Given the description of an element on the screen output the (x, y) to click on. 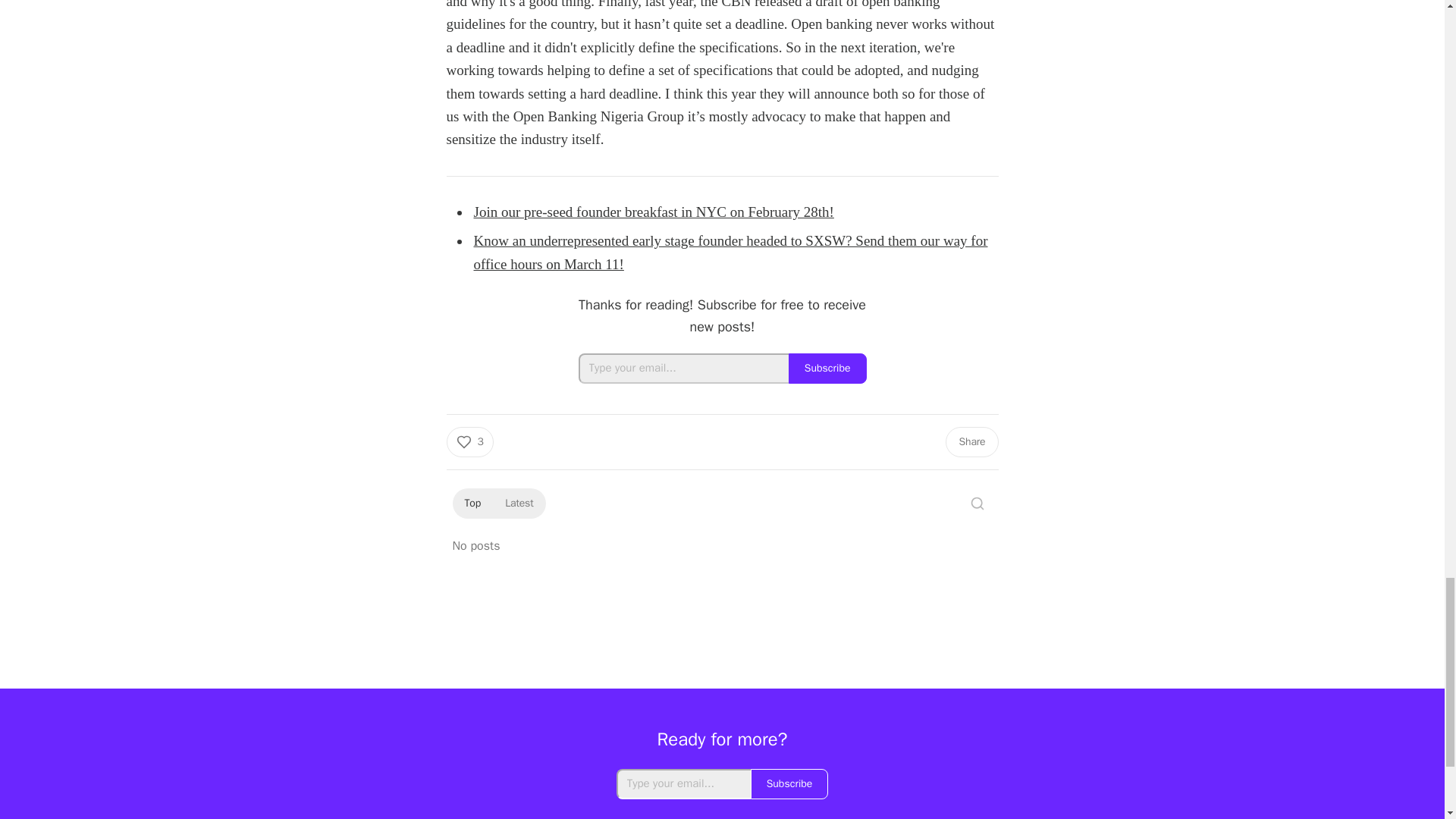
Share (970, 441)
Subscribe (789, 784)
3 (469, 441)
Latest (518, 503)
Subscribe (827, 368)
Join our pre-seed founder breakfast in NYC on February 28th! (652, 211)
Top (471, 503)
